Given the description of an element on the screen output the (x, y) to click on. 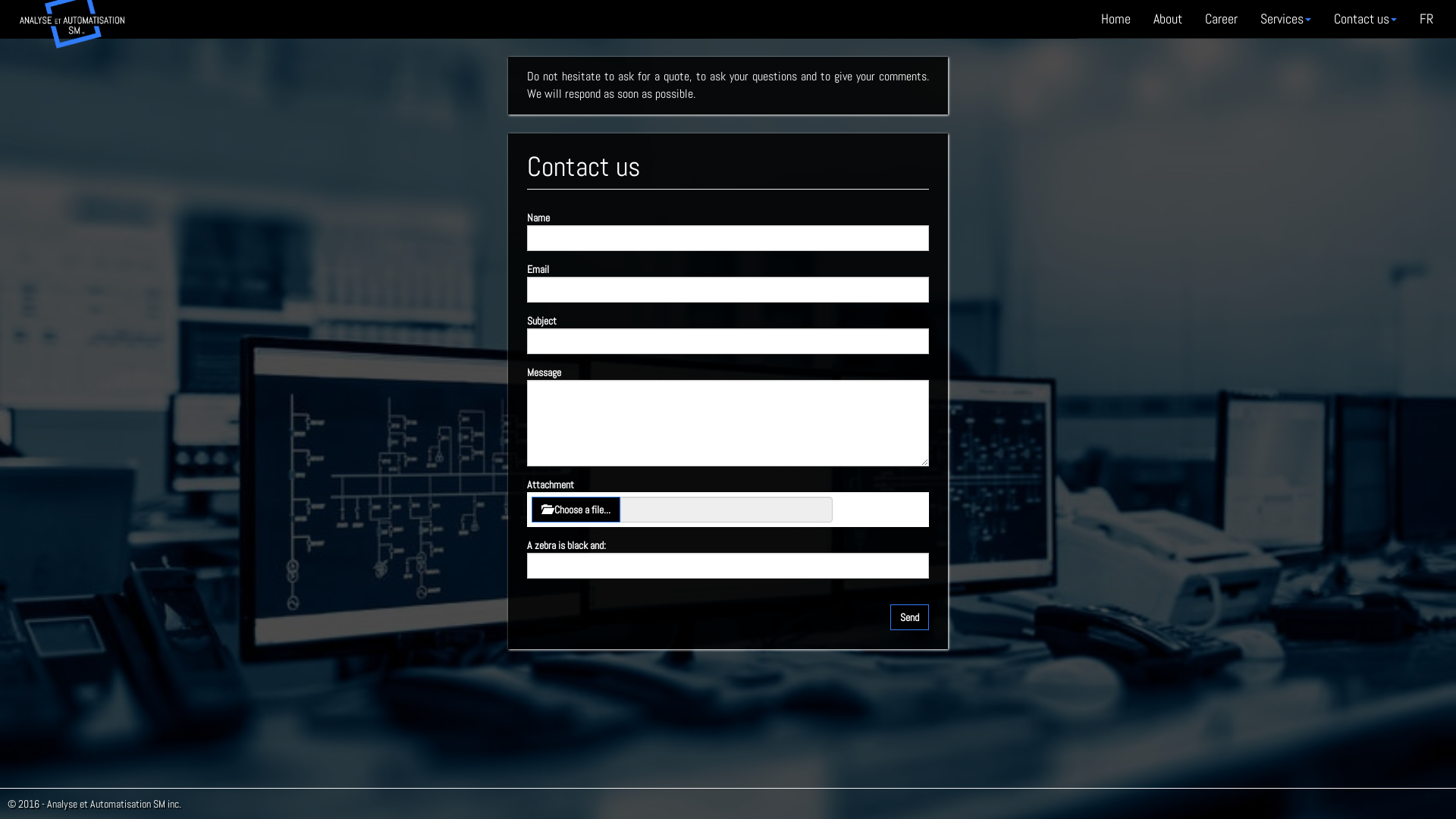
FR Element type: text (1426, 18)
Home Element type: text (1115, 18)
About Element type: text (1167, 18)
Career Element type: text (1220, 18)
Services Element type: text (1285, 18)
Send Element type: text (909, 617)
Contact us Element type: text (1365, 18)
